Given the description of an element on the screen output the (x, y) to click on. 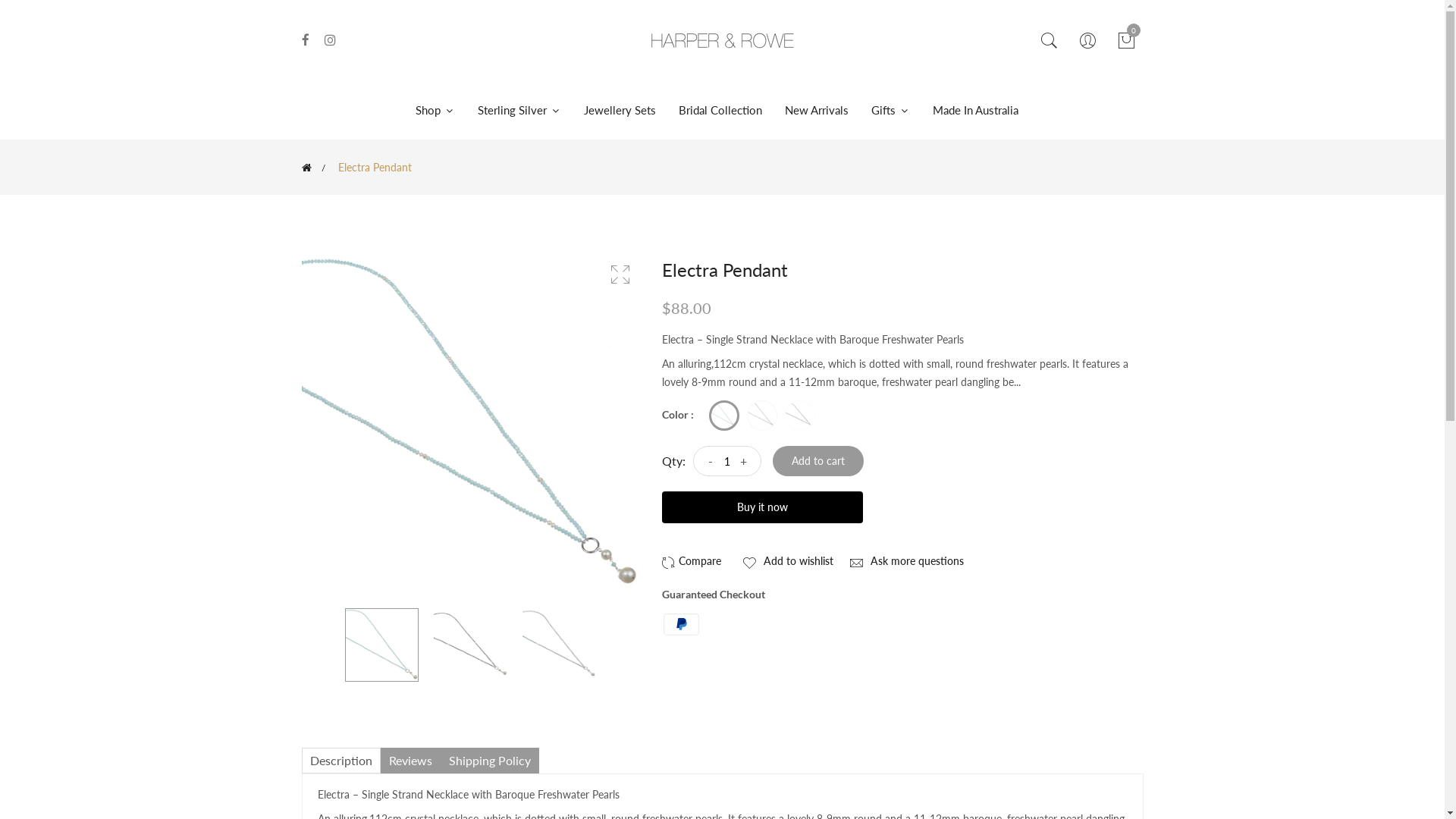
Add to cart Element type: text (816, 460)
Bridal Collection Element type: text (720, 110)
Gifts Element type: text (890, 110)
Ask more questions Element type: text (905, 561)
Description Element type: text (340, 760)
Back to the home page Element type: hover (306, 167)
Shop Element type: text (440, 110)
New Arrivals Element type: text (816, 110)
Buy it now Element type: text (761, 507)
0 Element type: text (1125, 40)
Sterling Silver Element type: text (518, 110)
Made In Australia Element type: text (974, 110)
Jewellery Sets Element type: text (618, 110)
Shipping Policy Element type: text (488, 760)
Add to wishlist Element type: text (787, 561)
Reviews Element type: text (410, 760)
